Given the description of an element on the screen output the (x, y) to click on. 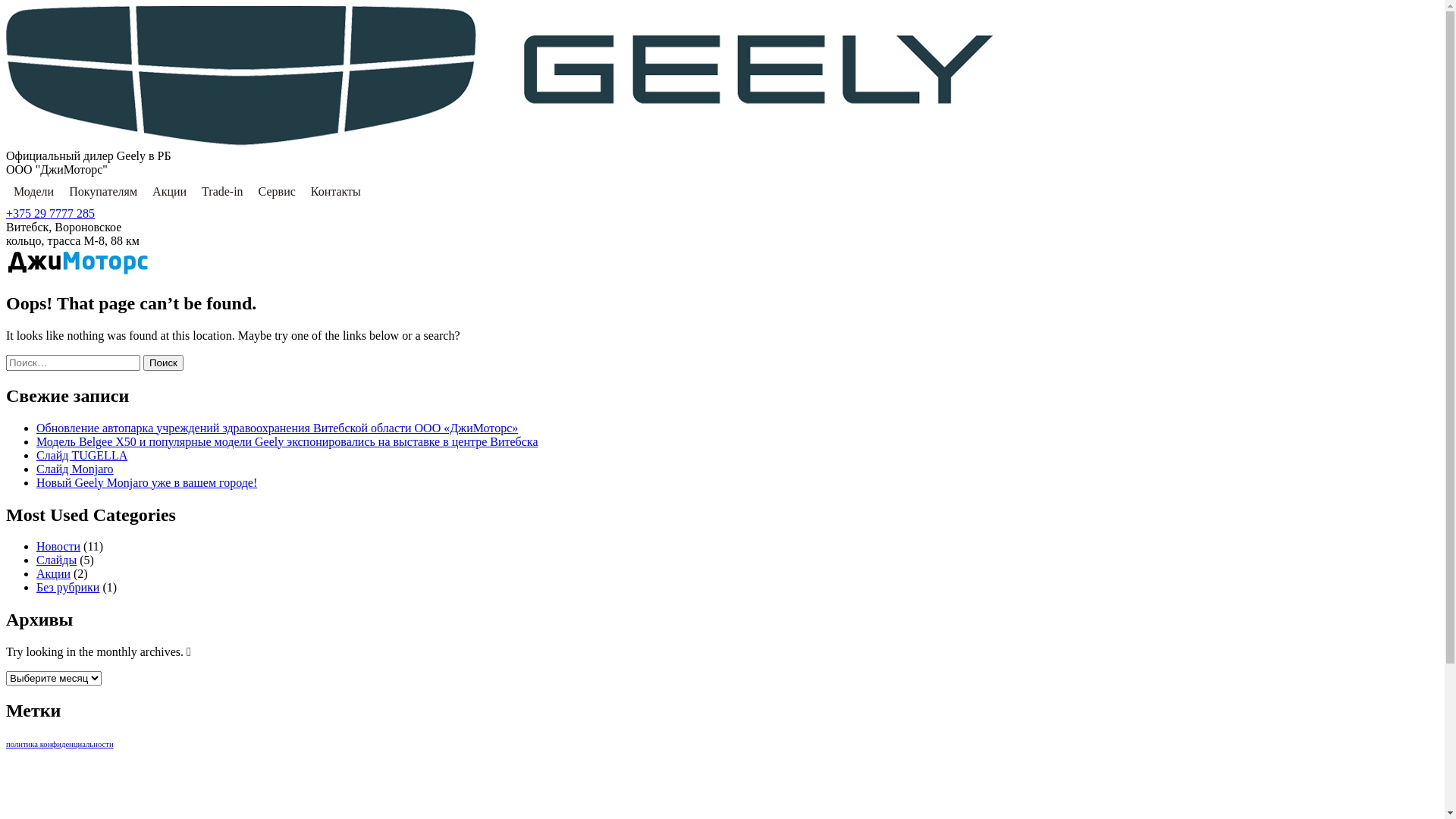
Trade-in Element type: text (222, 191)
+375 29 7777 285 Element type: text (50, 213)
